Given the description of an element on the screen output the (x, y) to click on. 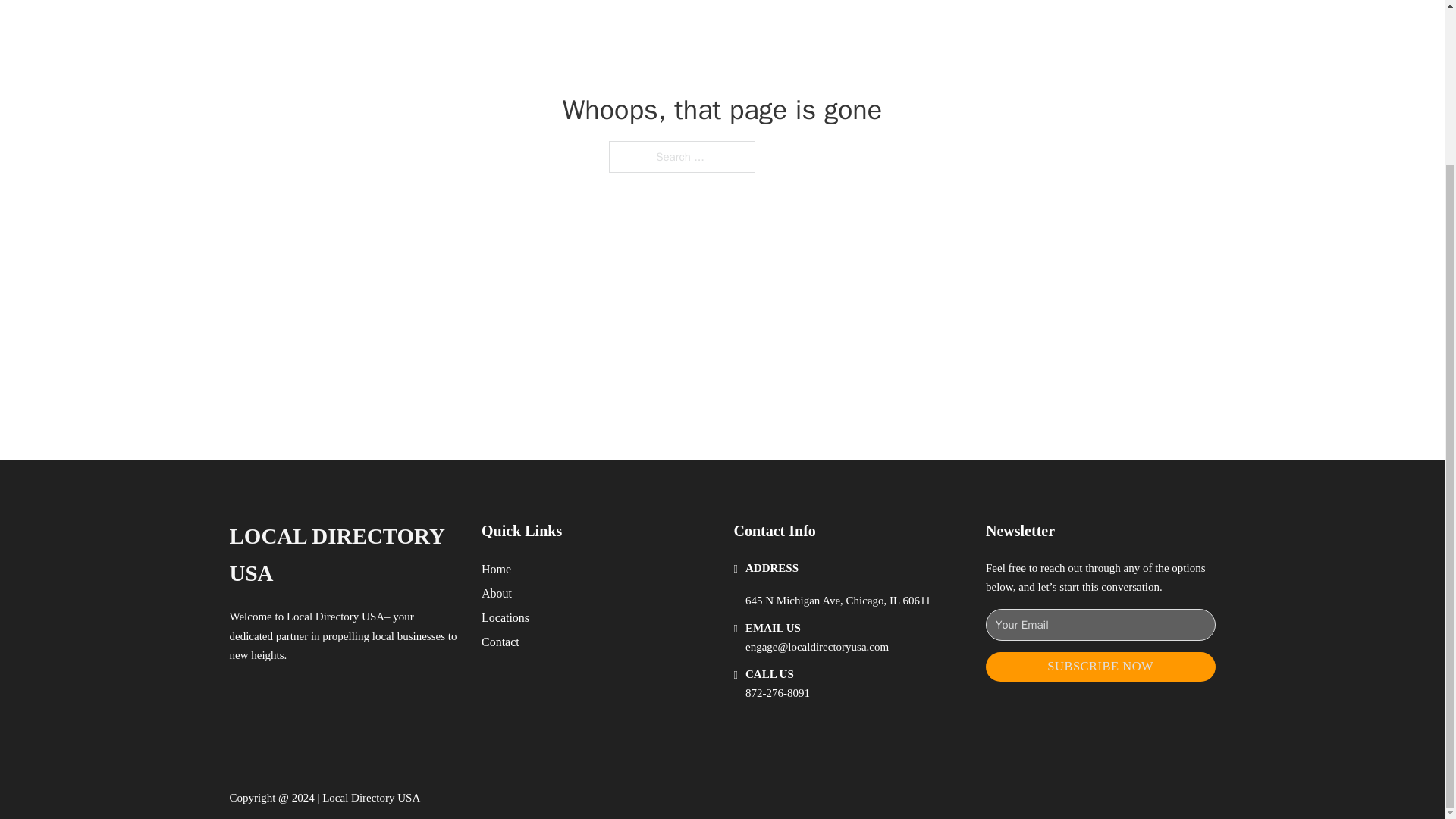
LOCAL DIRECTORY USA (343, 554)
Contact (500, 641)
About (496, 593)
Home (496, 568)
Locations (505, 617)
872-276-8091 (777, 693)
SUBSCRIBE NOW (1100, 666)
